Given the description of an element on the screen output the (x, y) to click on. 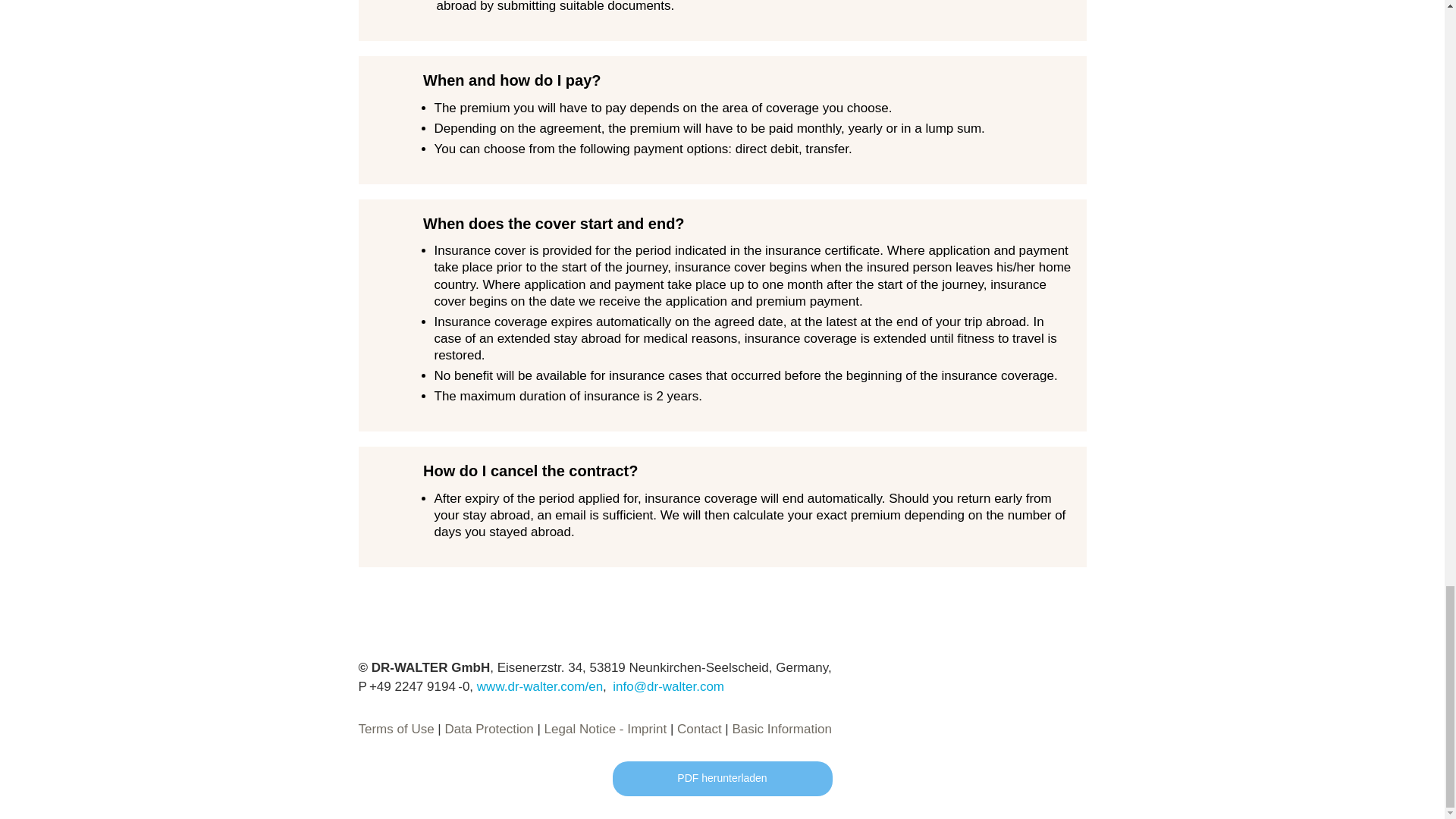
Terms of Use (395, 728)
Legal Notice - Imprint (605, 728)
Basic Information (781, 728)
PDF herunterladen (722, 778)
Data Protection (489, 728)
Contact (699, 728)
